Given the description of an element on the screen output the (x, y) to click on. 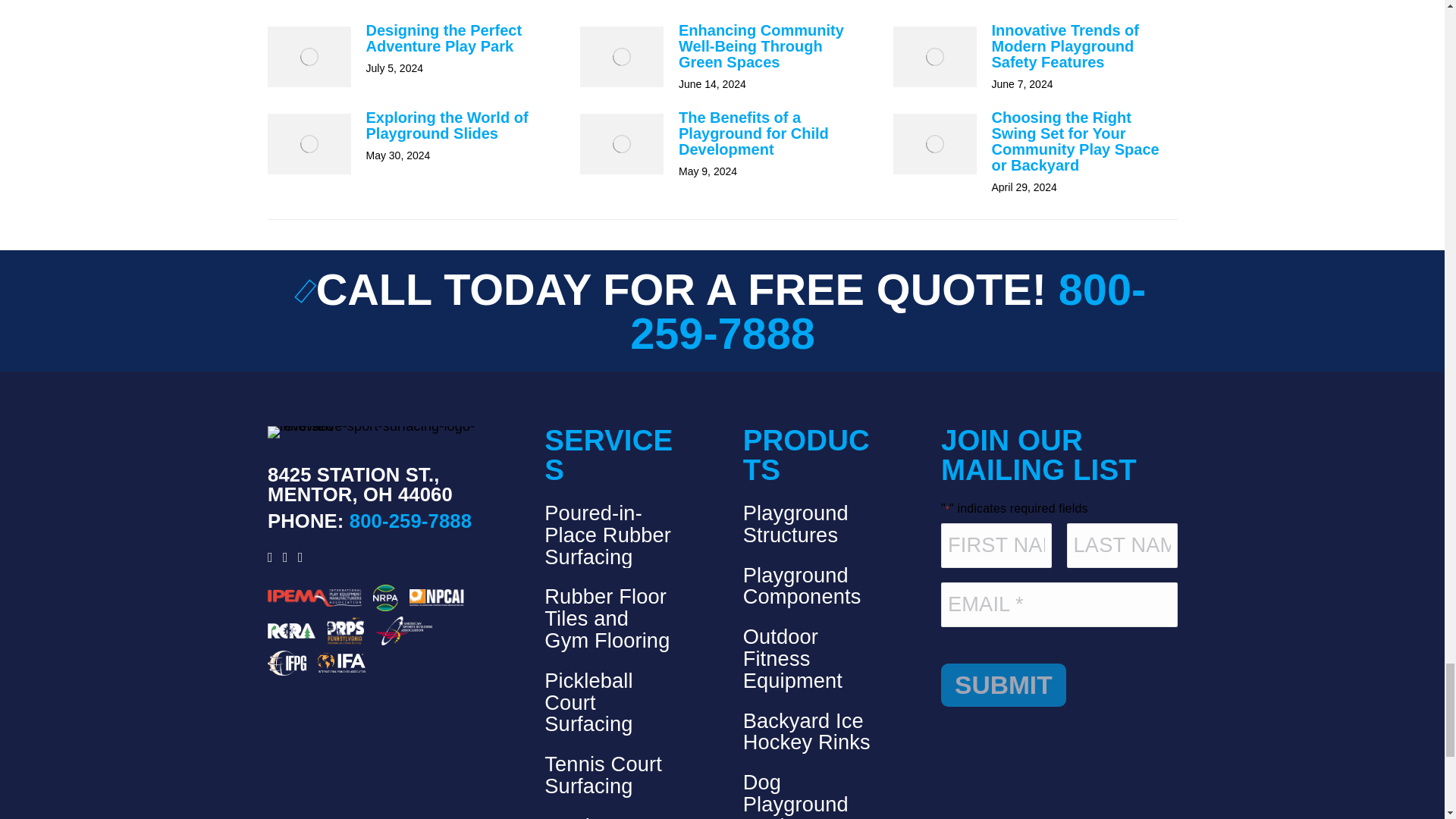
Submit (1002, 685)
